Given the description of an element on the screen output the (x, y) to click on. 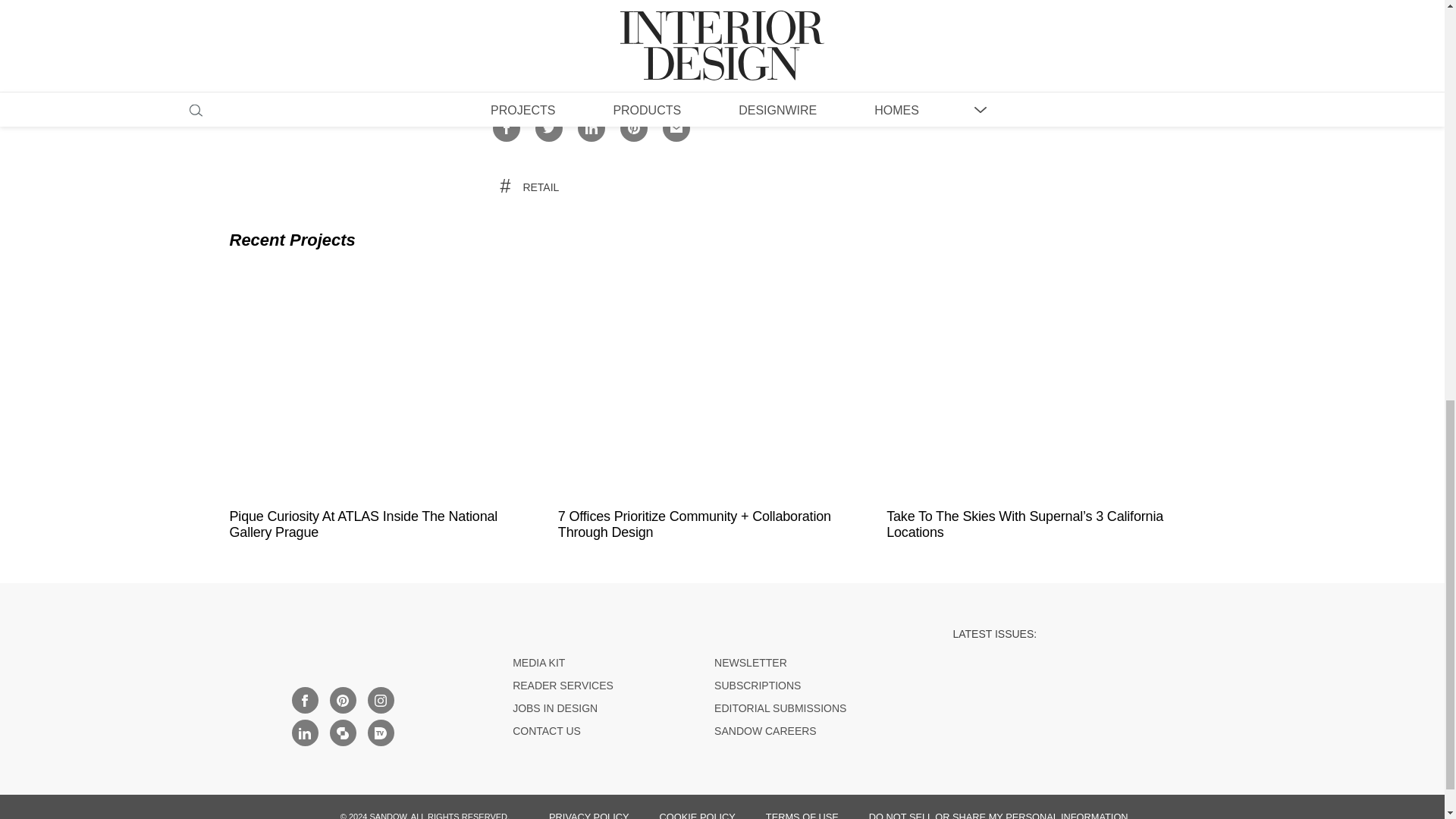
Aica Kogyo Company (534, 51)
Nittax (614, 51)
